Given the description of an element on the screen output the (x, y) to click on. 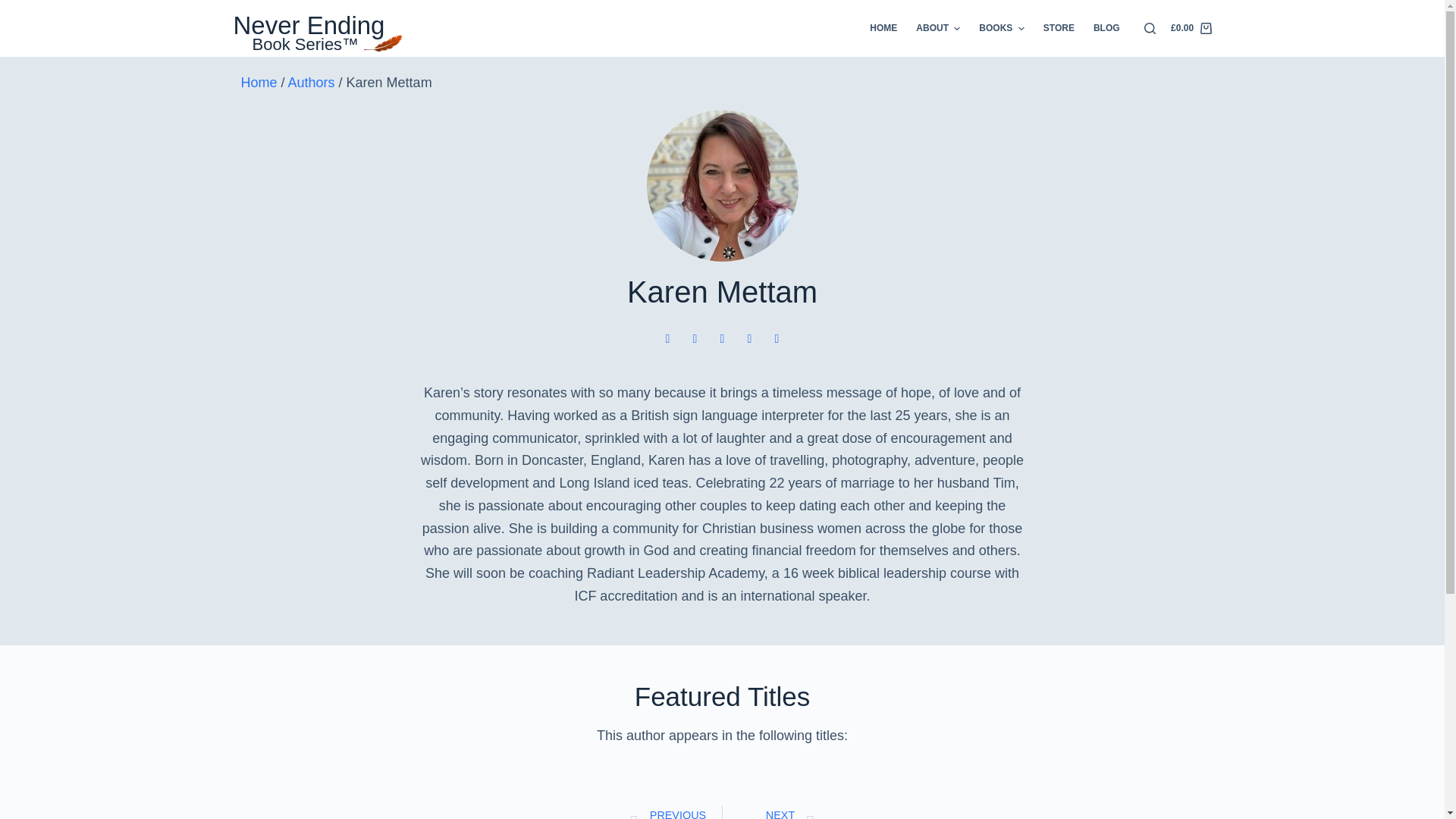
Home (259, 82)
ABOUT (938, 28)
Never Ending (308, 25)
Karen Mettam (721, 185)
BOOKS (1001, 28)
Skip to content (15, 7)
